Given the description of an element on the screen output the (x, y) to click on. 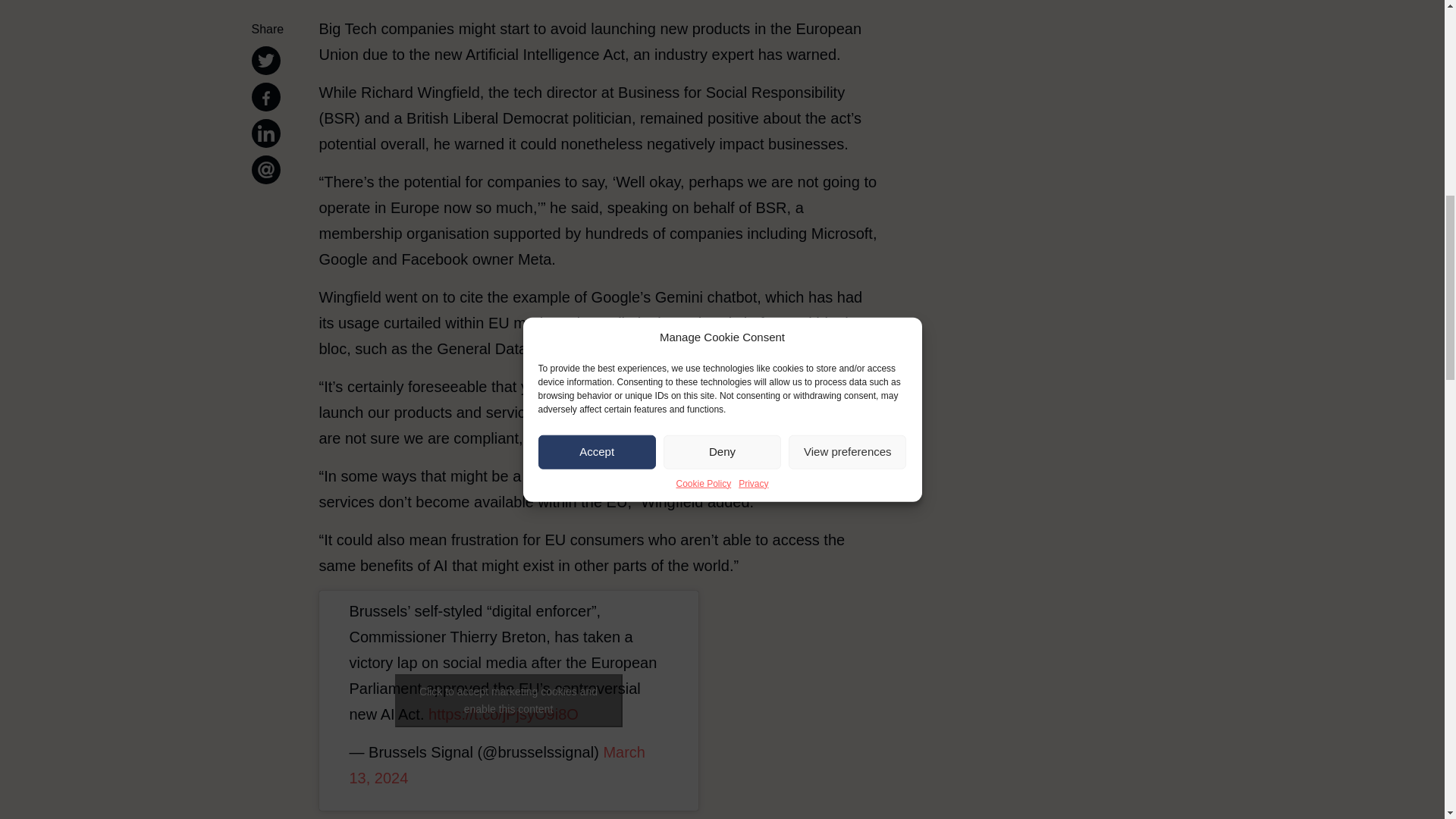
Click to accept marketing cookies and enable this content (507, 700)
March 13, 2024 (497, 764)
